Given the description of an element on the screen output the (x, y) to click on. 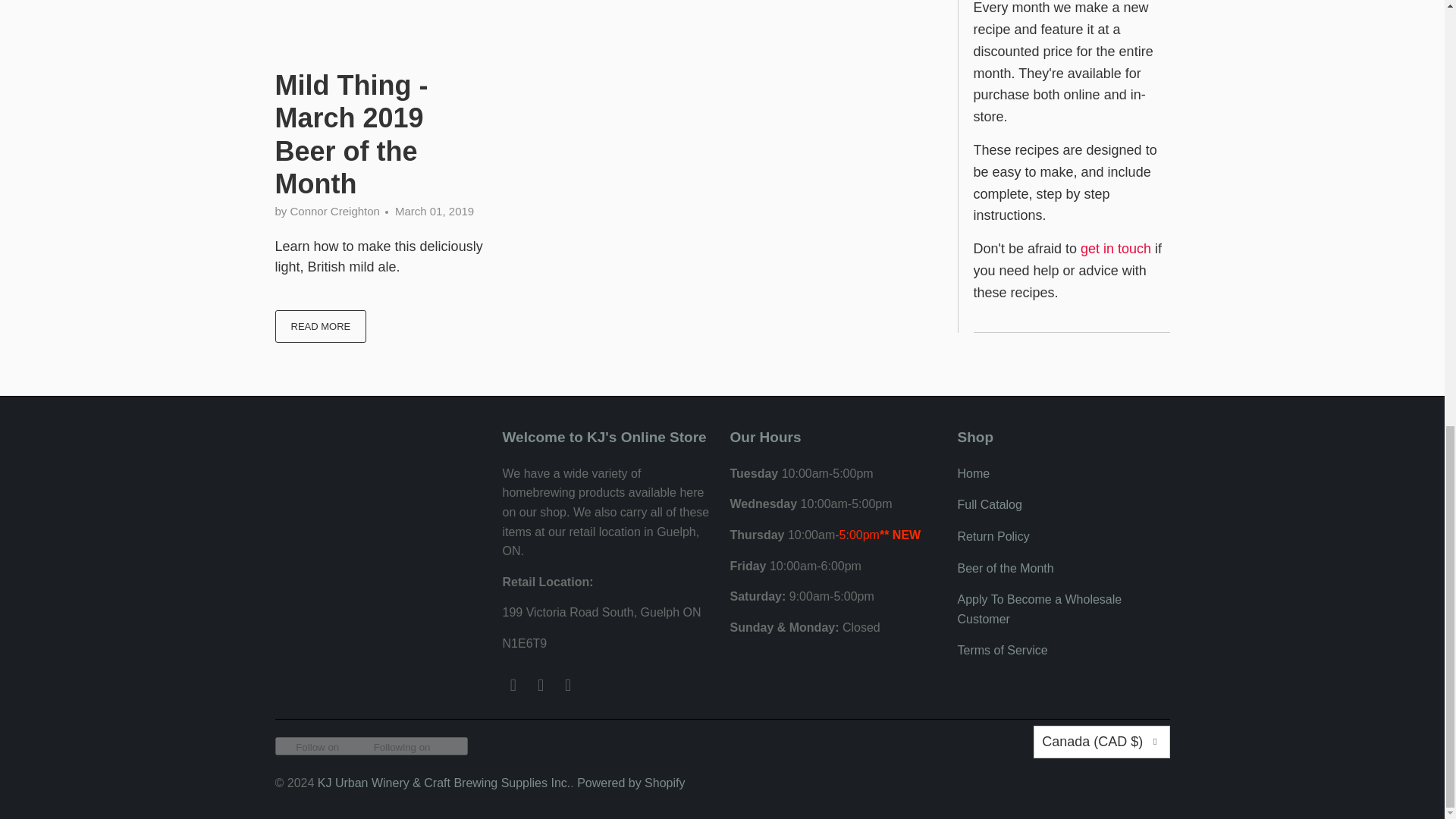
Mild Thing - March 2019 Beer of the Month (320, 326)
Mild Thing - March 2019 Beer of the Month (380, 22)
Contact Us (1115, 248)
